Given the description of an element on the screen output the (x, y) to click on. 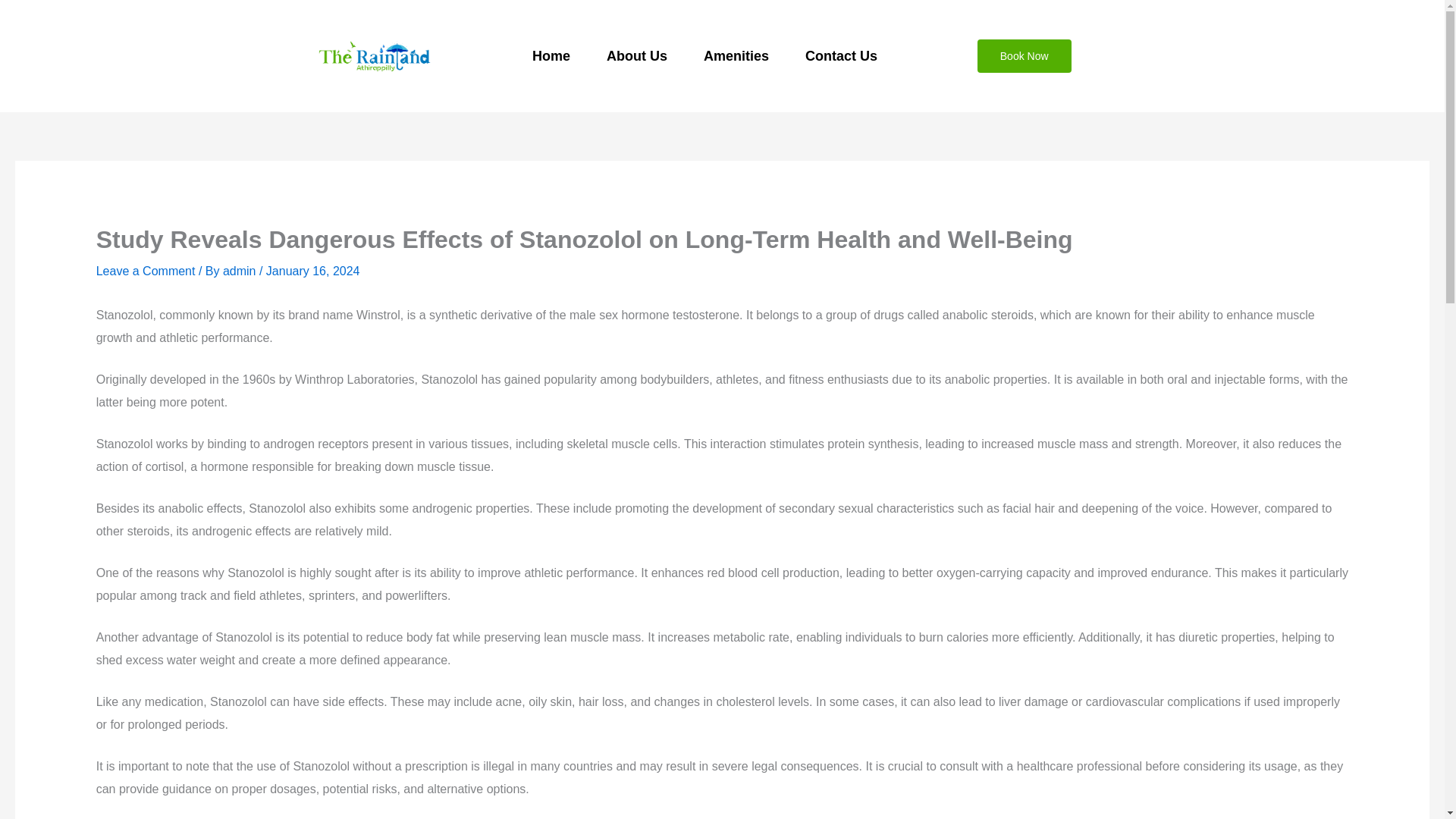
admin (240, 270)
Amenities (736, 55)
View all posts by admin (240, 270)
Contact Us (841, 55)
About Us (636, 55)
Leave a Comment (145, 270)
Book Now (1023, 55)
Home (550, 55)
